Given the description of an element on the screen output the (x, y) to click on. 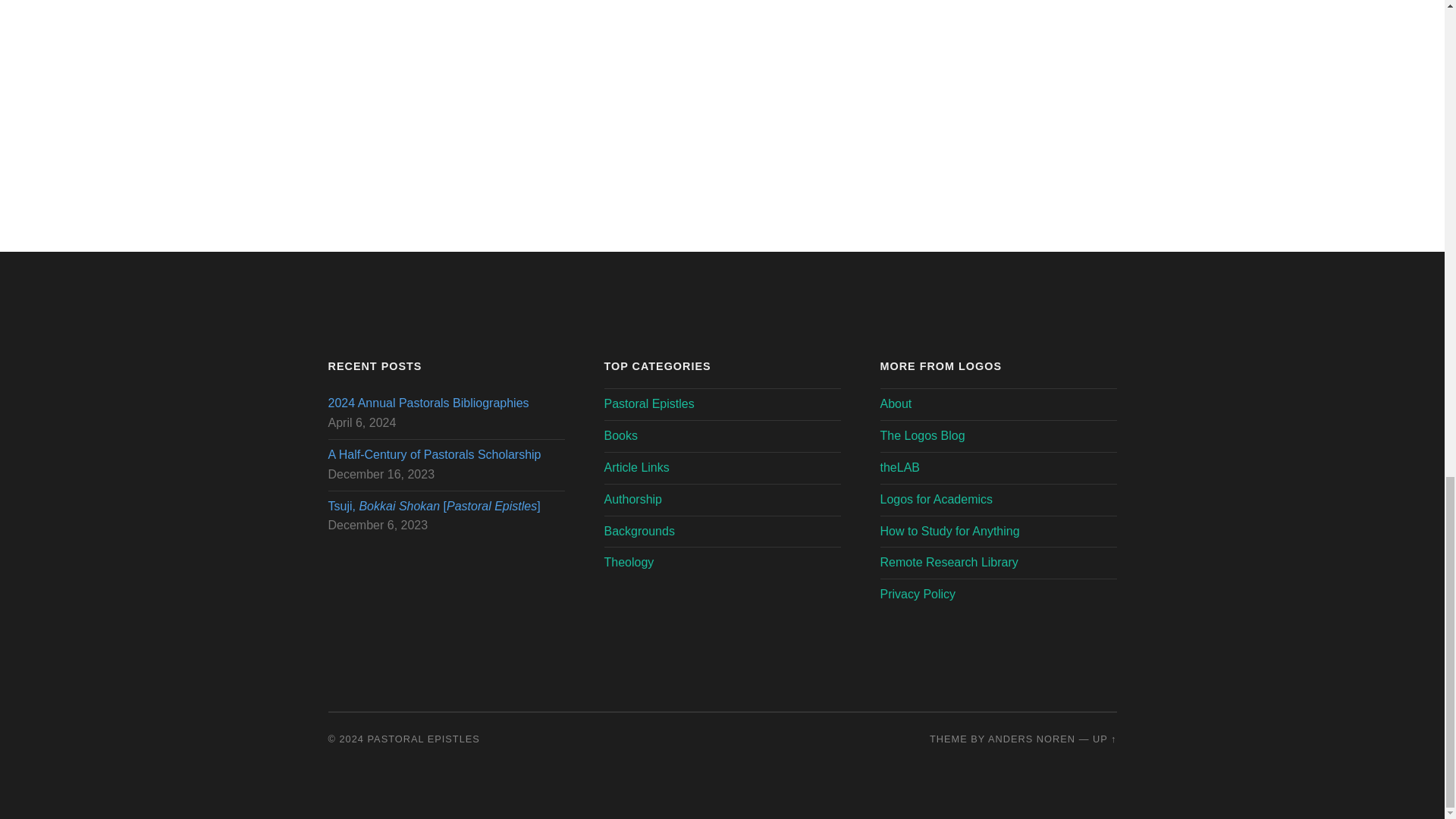
Article Links (636, 467)
theLAB (898, 467)
Authorship (633, 499)
To the top (1104, 738)
Backgrounds (639, 530)
A Half-Century of Pastorals Scholarship (445, 455)
Theology (628, 562)
Books (620, 435)
About (895, 403)
Pastoral Epistles (649, 403)
The Logos Blog (921, 435)
2024 Annual Pastorals Bibliographies (445, 403)
